Given the description of an element on the screen output the (x, y) to click on. 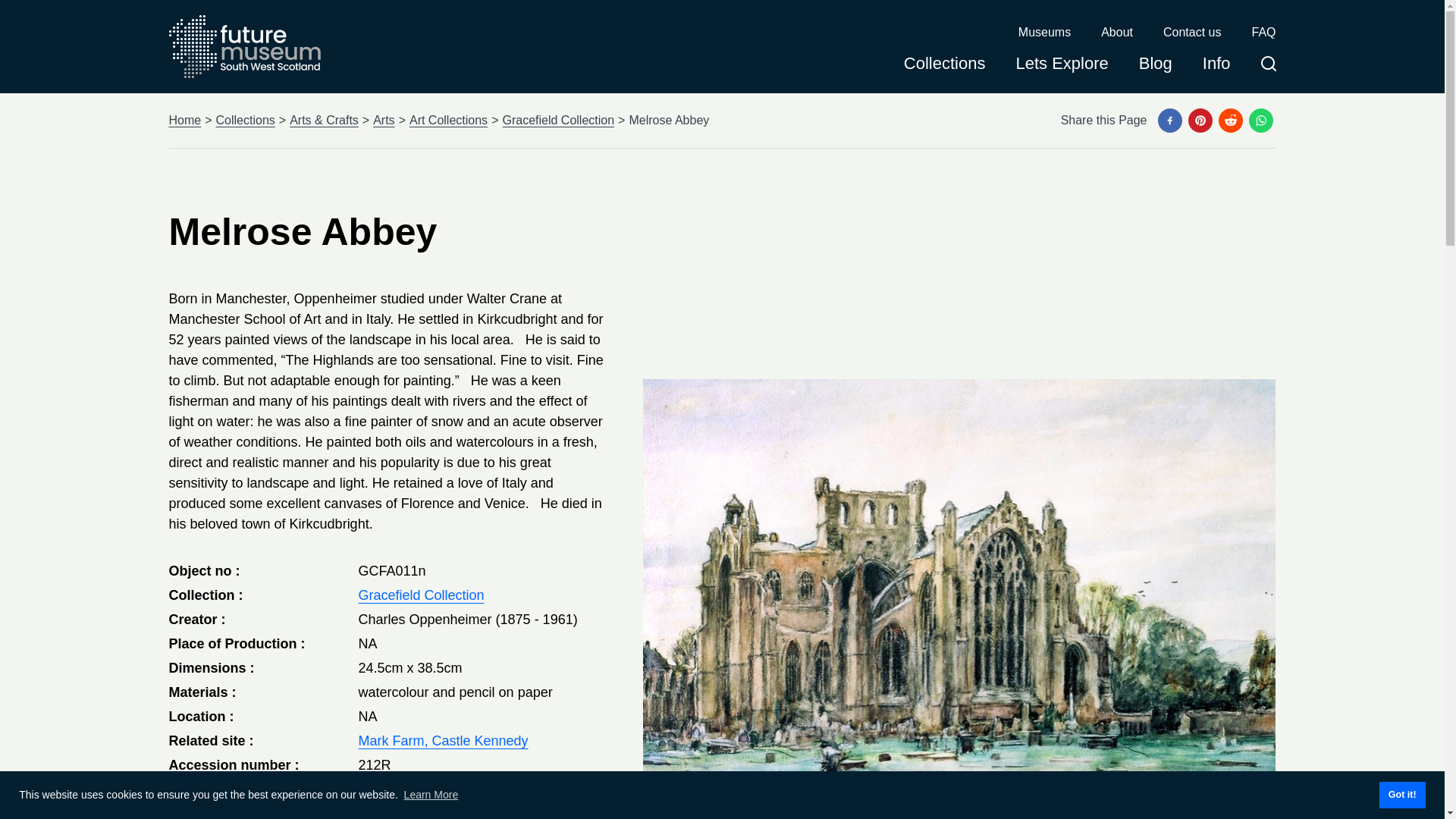
Contact us (1192, 32)
Collections (245, 119)
Lets Explore (1061, 68)
About (1116, 32)
Home (184, 119)
Mark Farm, Castle Kennedy (442, 740)
Gracefield Collection (420, 595)
Museums (1043, 32)
Gracefield Collection (558, 119)
Learn More (431, 794)
Got it! (1401, 795)
Art Collections (448, 119)
FAQ (1262, 32)
Collections (944, 68)
Arts (383, 119)
